Given the description of an element on the screen output the (x, y) to click on. 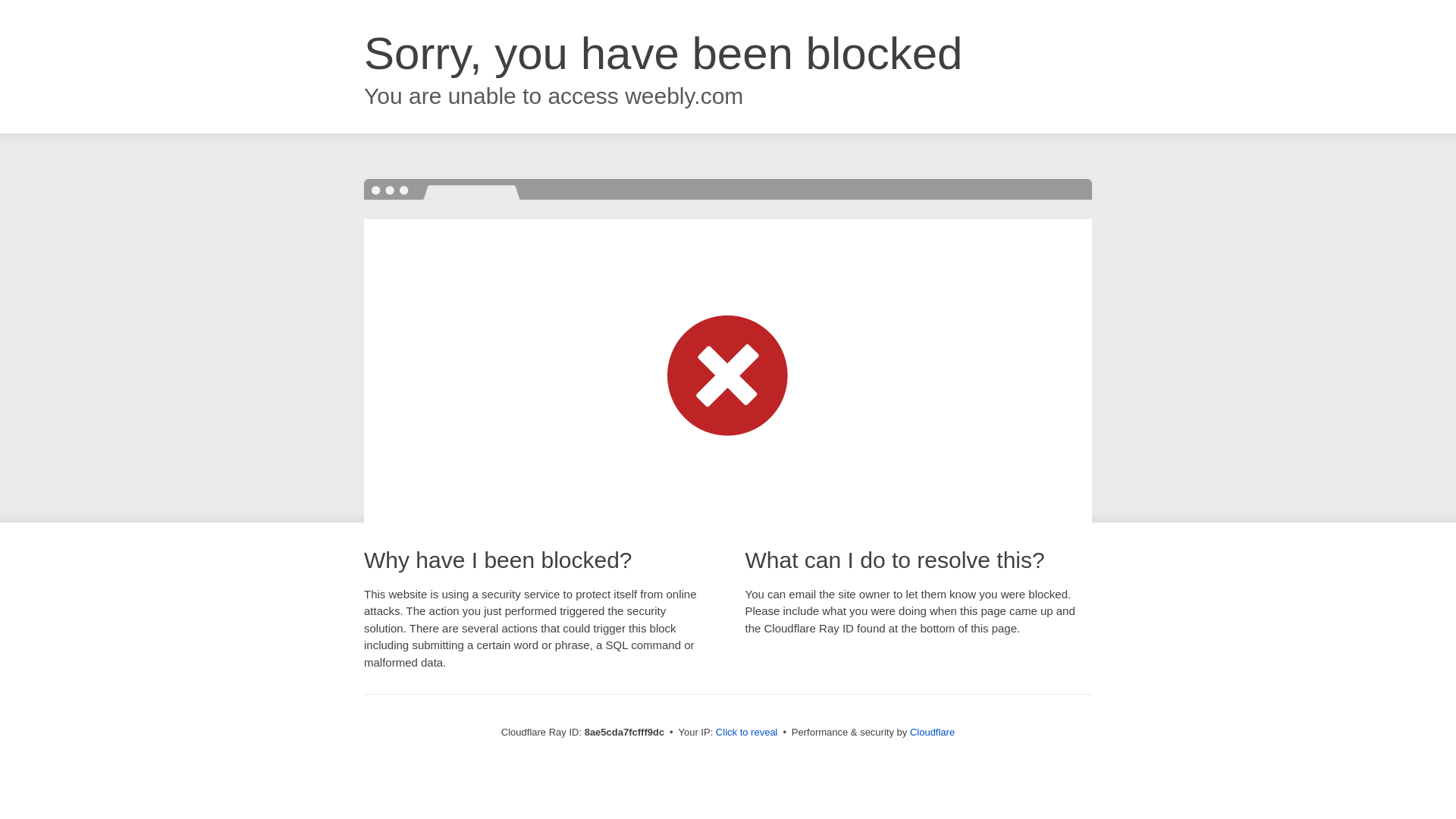
Cloudflare (932, 731)
Click to reveal (746, 732)
